Given the description of an element on the screen output the (x, y) to click on. 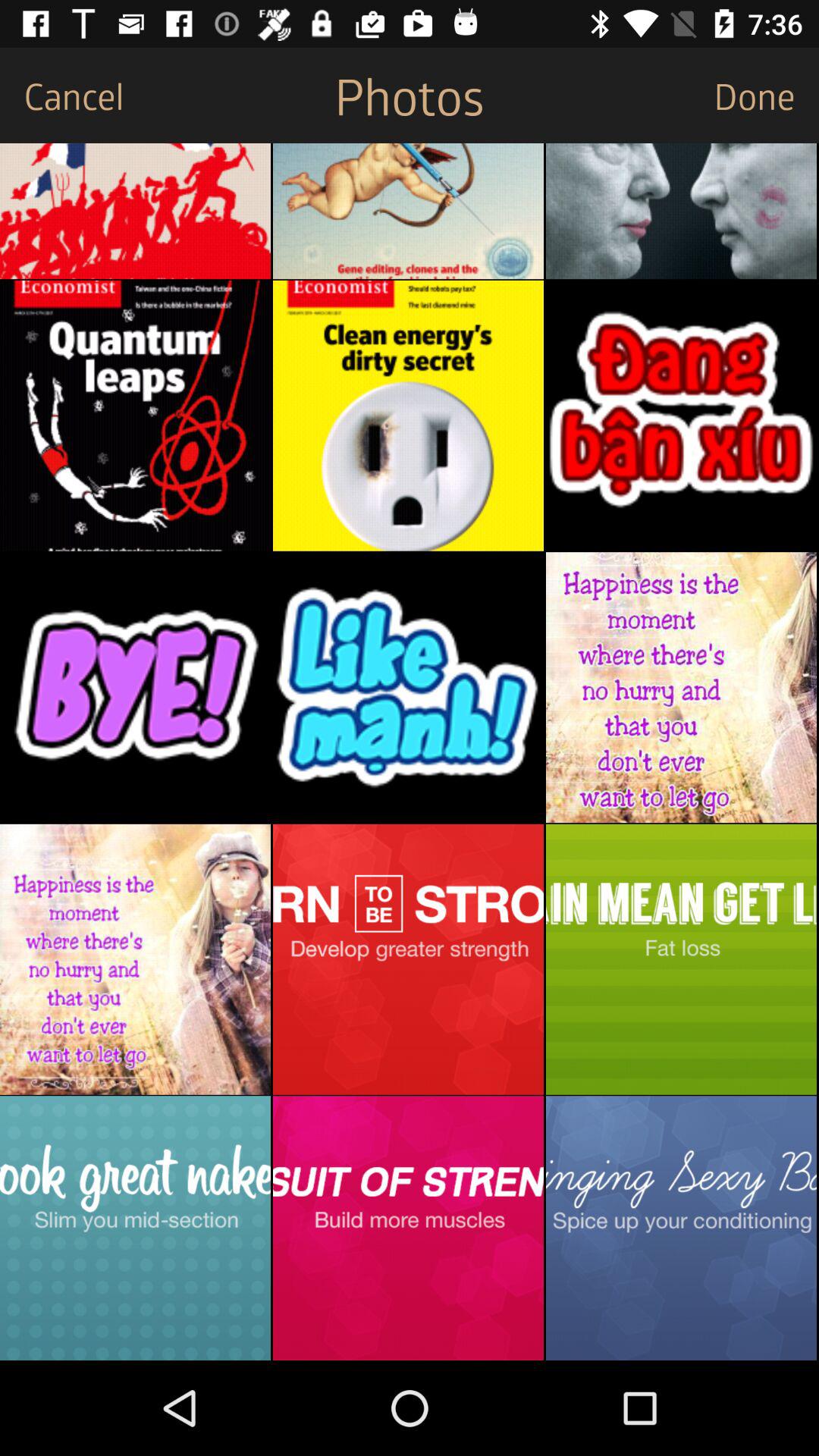
click on the quantum photo (135, 415)
